Given the description of an element on the screen output the (x, y) to click on. 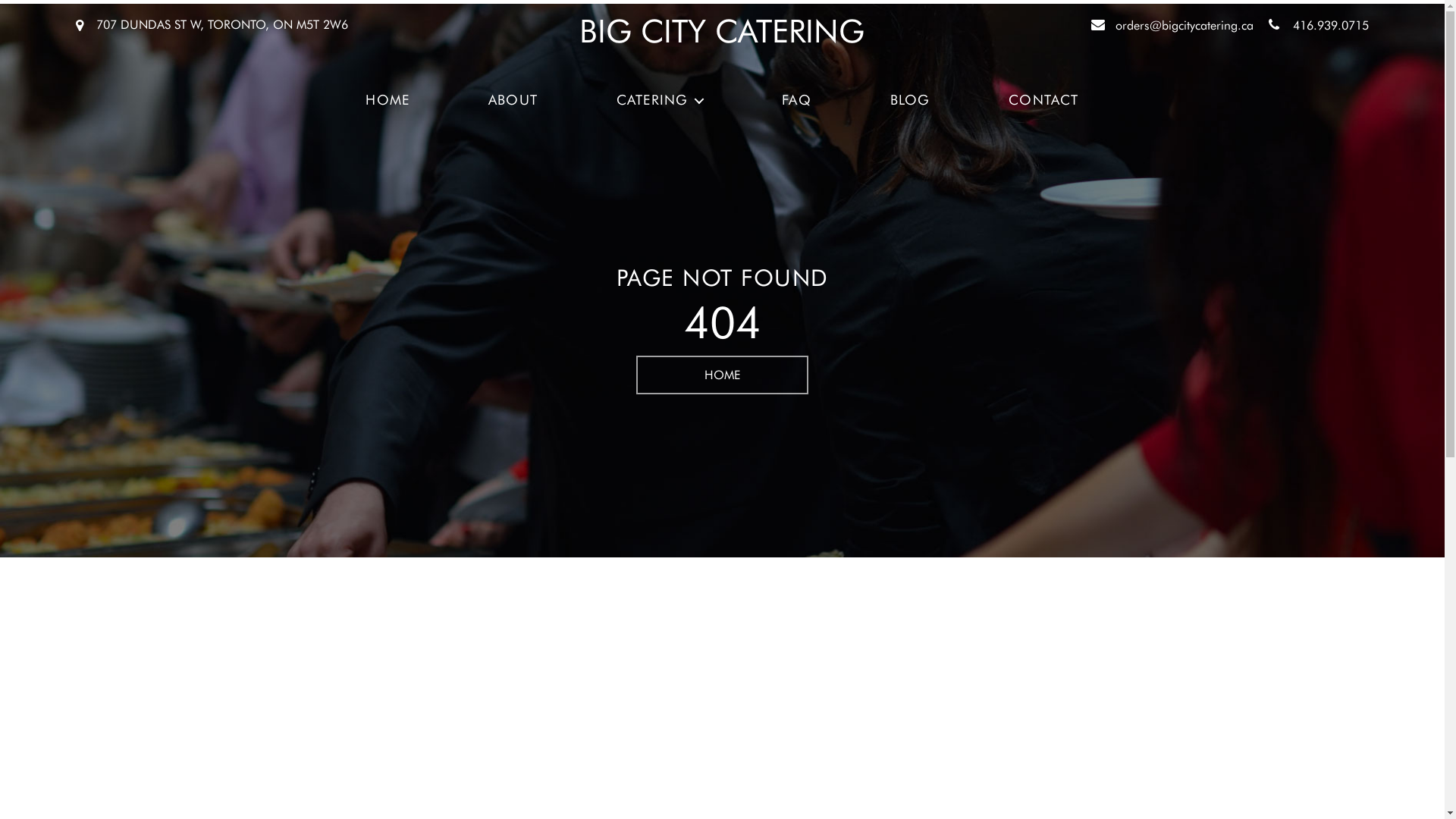
HOME Element type: text (387, 99)
BIG CITY CATERING Element type: text (721, 31)
HOME Element type: text (721, 374)
BLOG Element type: text (910, 99)
FAQ Element type: text (796, 99)
CATERING Element type: text (659, 99)
416.939.0715 Element type: text (1330, 25)
orders@bigcitycatering.ca Element type: text (1184, 25)
ABOUT Element type: text (512, 99)
CONTACT Element type: text (1043, 99)
